Given the description of an element on the screen output the (x, y) to click on. 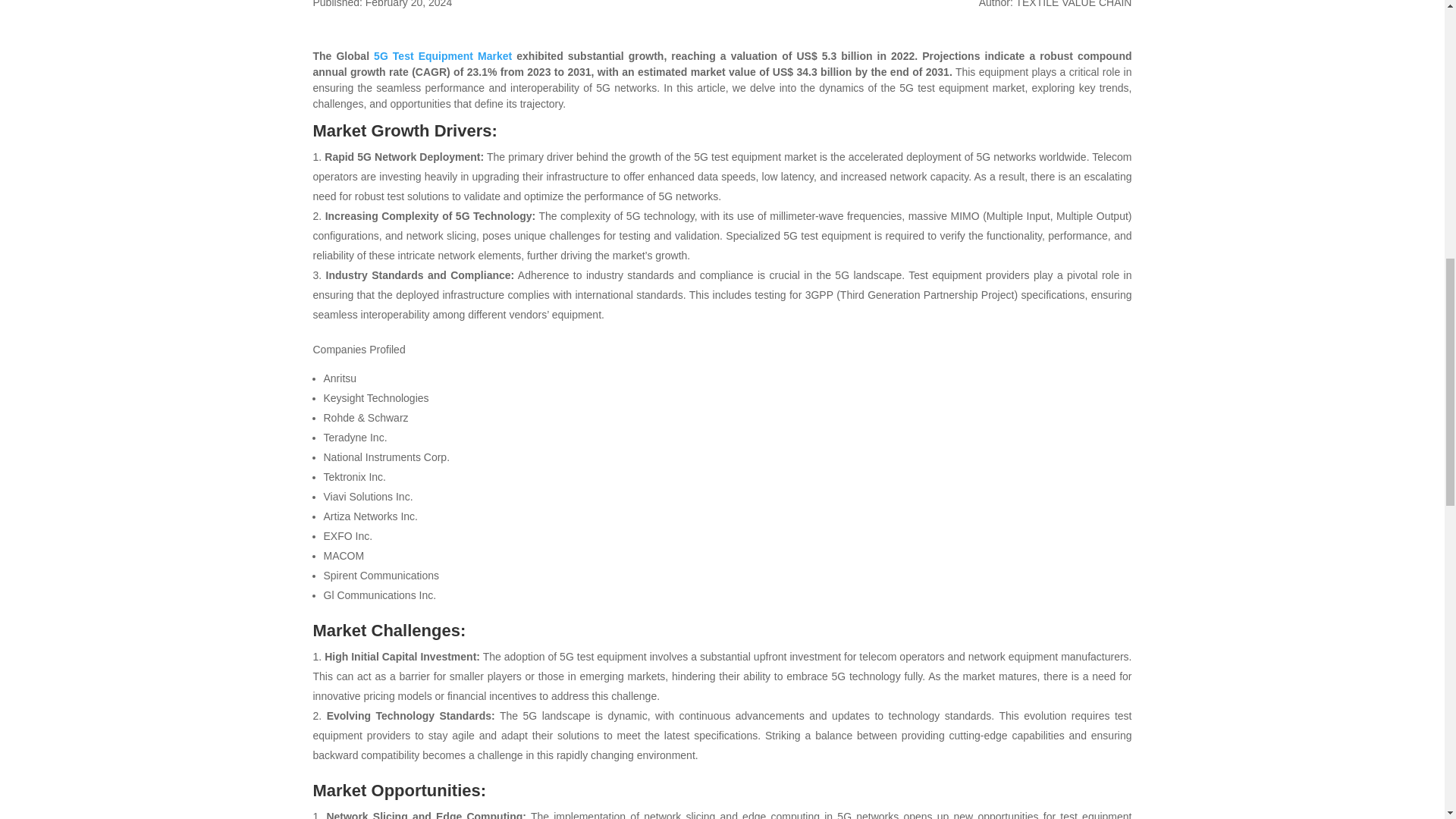
5G Test Equipment Market (443, 55)
